Given the description of an element on the screen output the (x, y) to click on. 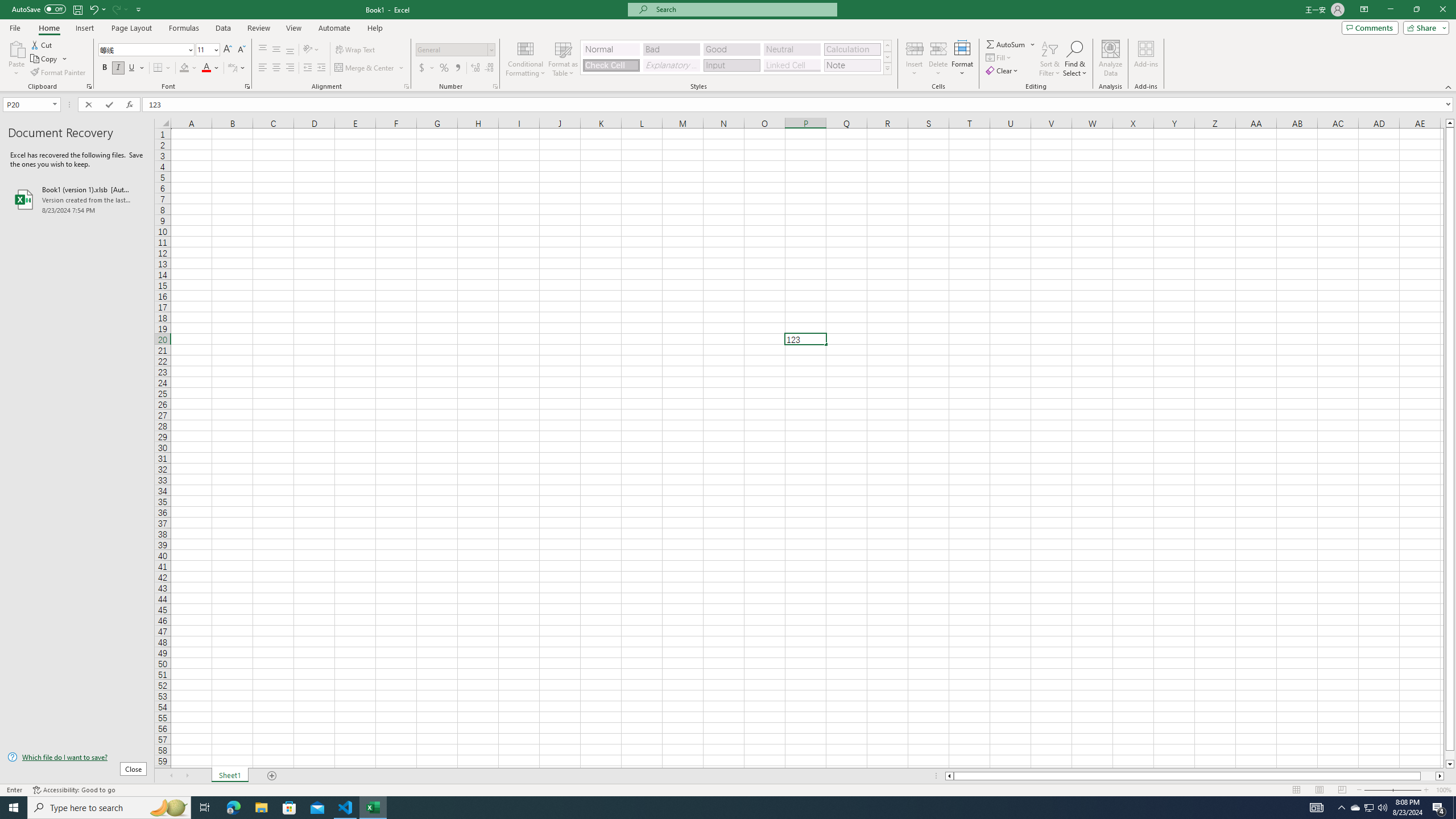
Column right (1440, 775)
Explanatory Text (671, 65)
Font (142, 49)
Accounting Number Format (426, 67)
System (6, 6)
Data (223, 28)
Add Sheet (272, 775)
Page Layout (131, 28)
Borders (162, 67)
AutoSave (38, 9)
Bad (671, 49)
Scroll Left (171, 775)
Calculation (852, 49)
Merge & Center (365, 67)
